Given the description of an element on the screen output the (x, y) to click on. 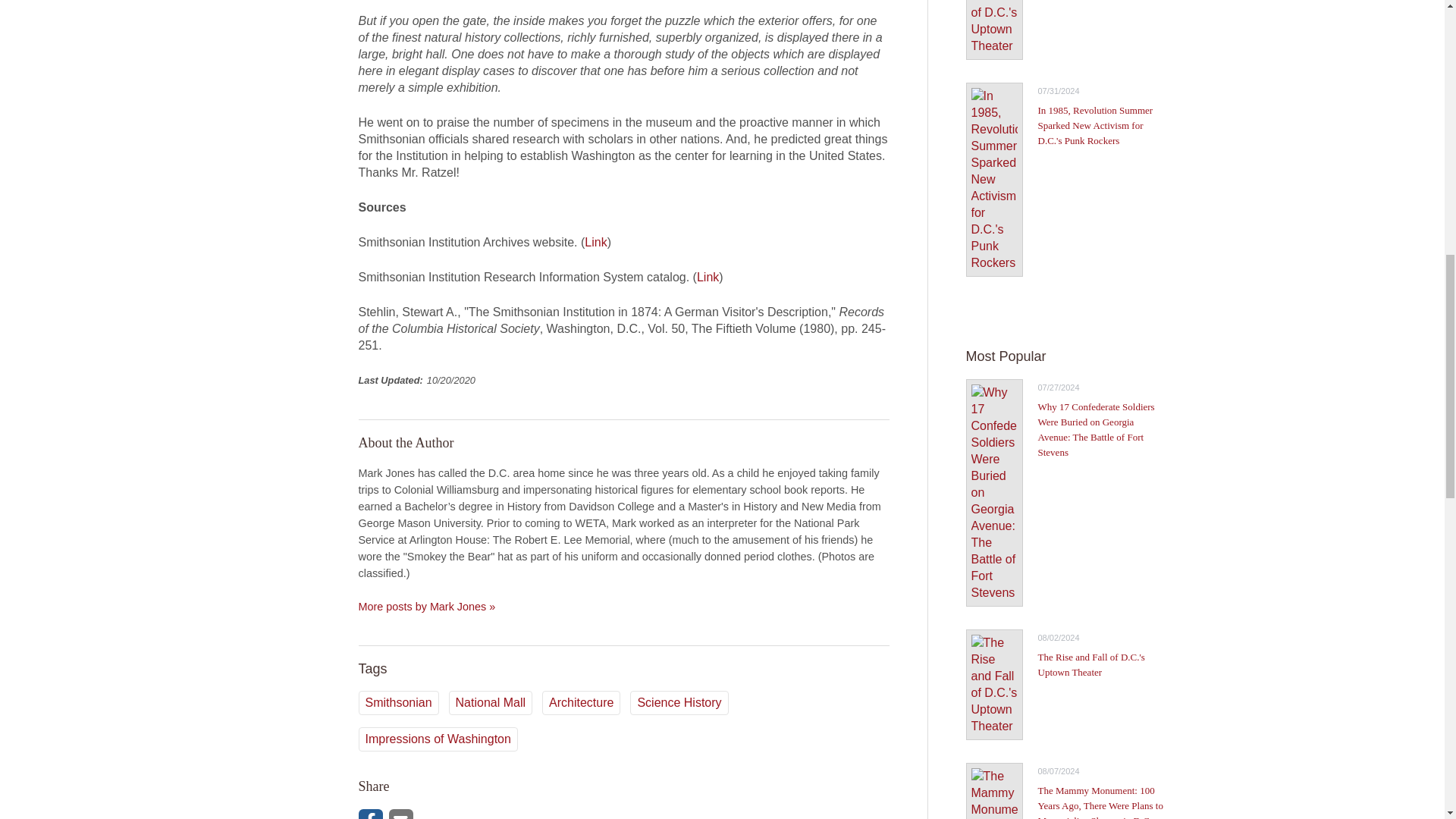
Link (596, 241)
Link (708, 277)
National Mall (490, 702)
Architecture (580, 702)
Smithsonian (398, 702)
Share by Email (400, 814)
Science History (679, 702)
Share by Facebook (369, 814)
Impressions of Washington (437, 739)
